Given the description of an element on the screen output the (x, y) to click on. 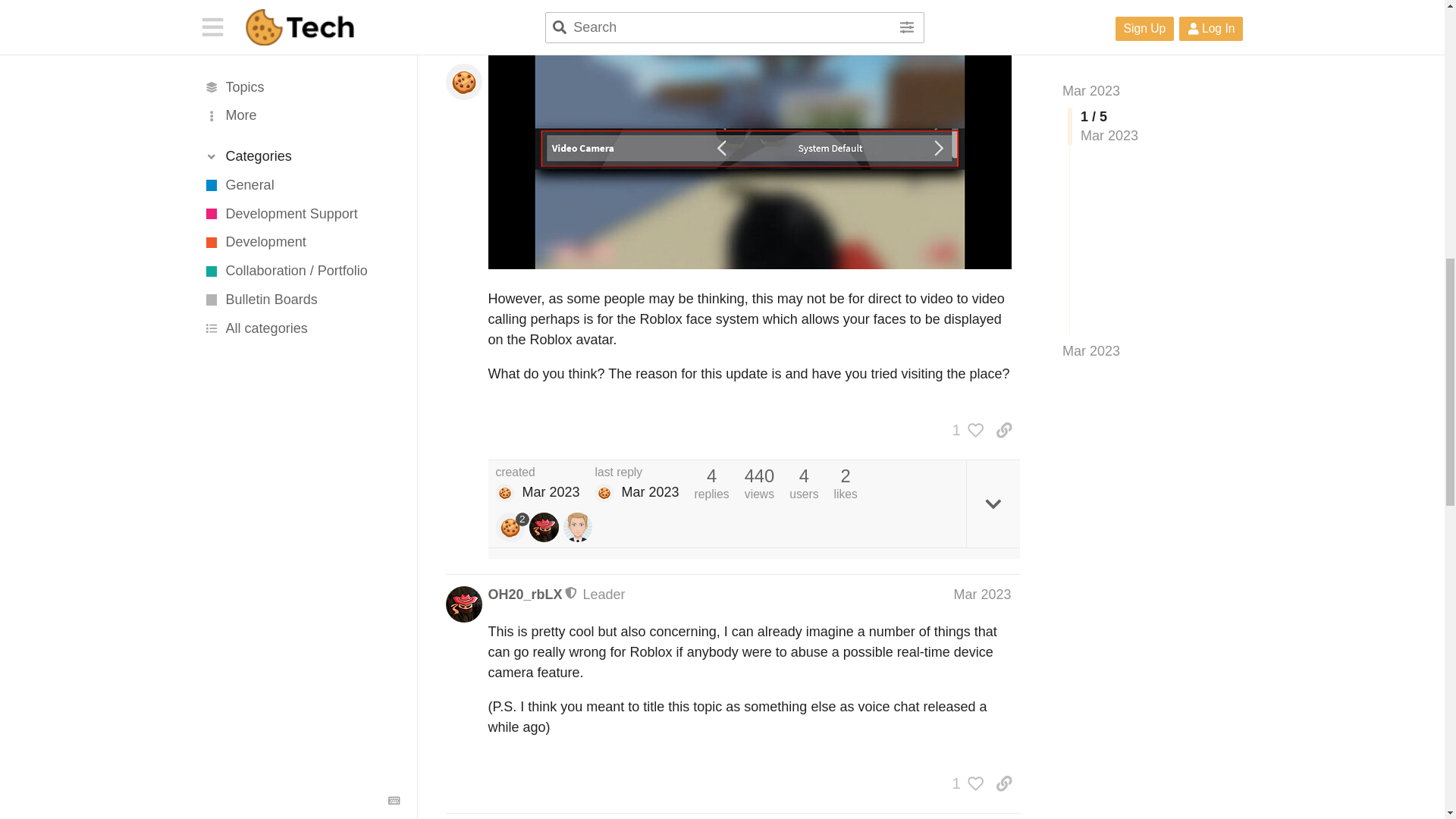
last reply (636, 472)
2 (512, 527)
1 (964, 430)
